Given the description of an element on the screen output the (x, y) to click on. 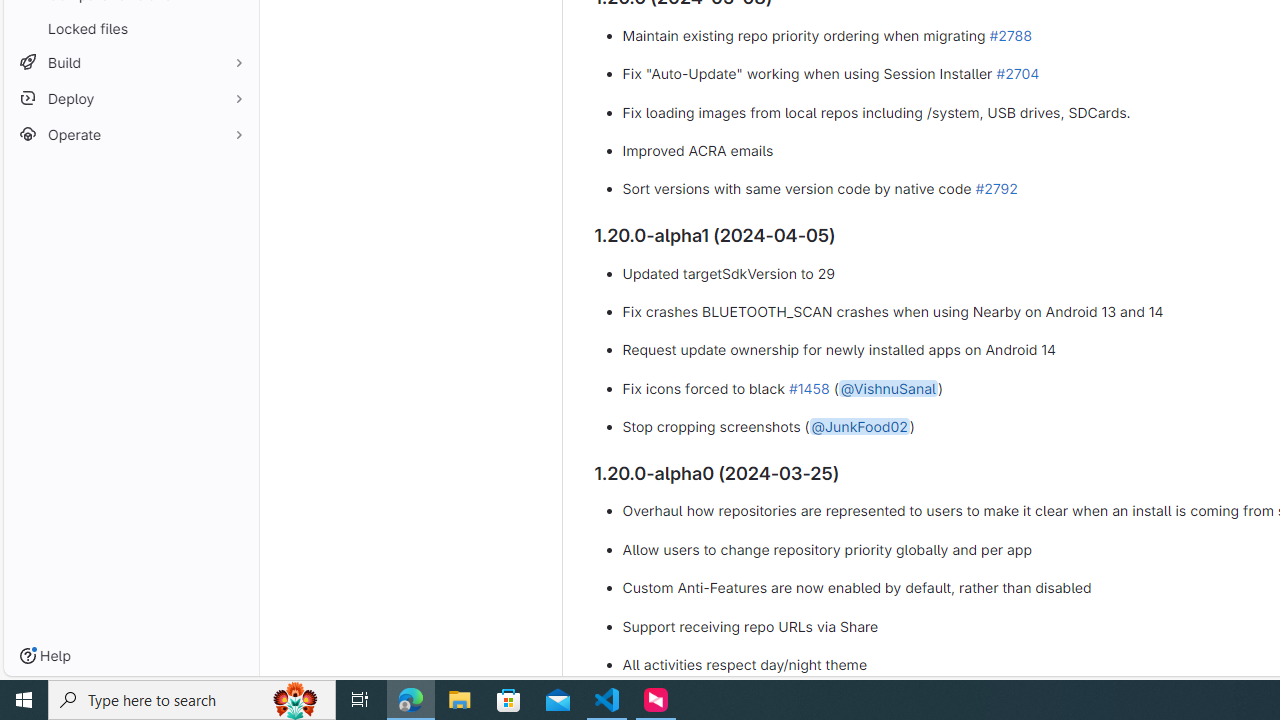
#2704 (1017, 73)
Microsoft Edge - 1 running window (411, 699)
Help (45, 655)
Start (24, 699)
Deploy (130, 98)
@VishnuSanal (888, 387)
#2788 (1010, 34)
Operate (130, 134)
Type here to search (191, 699)
Locked files (130, 28)
